Given the description of an element on the screen output the (x, y) to click on. 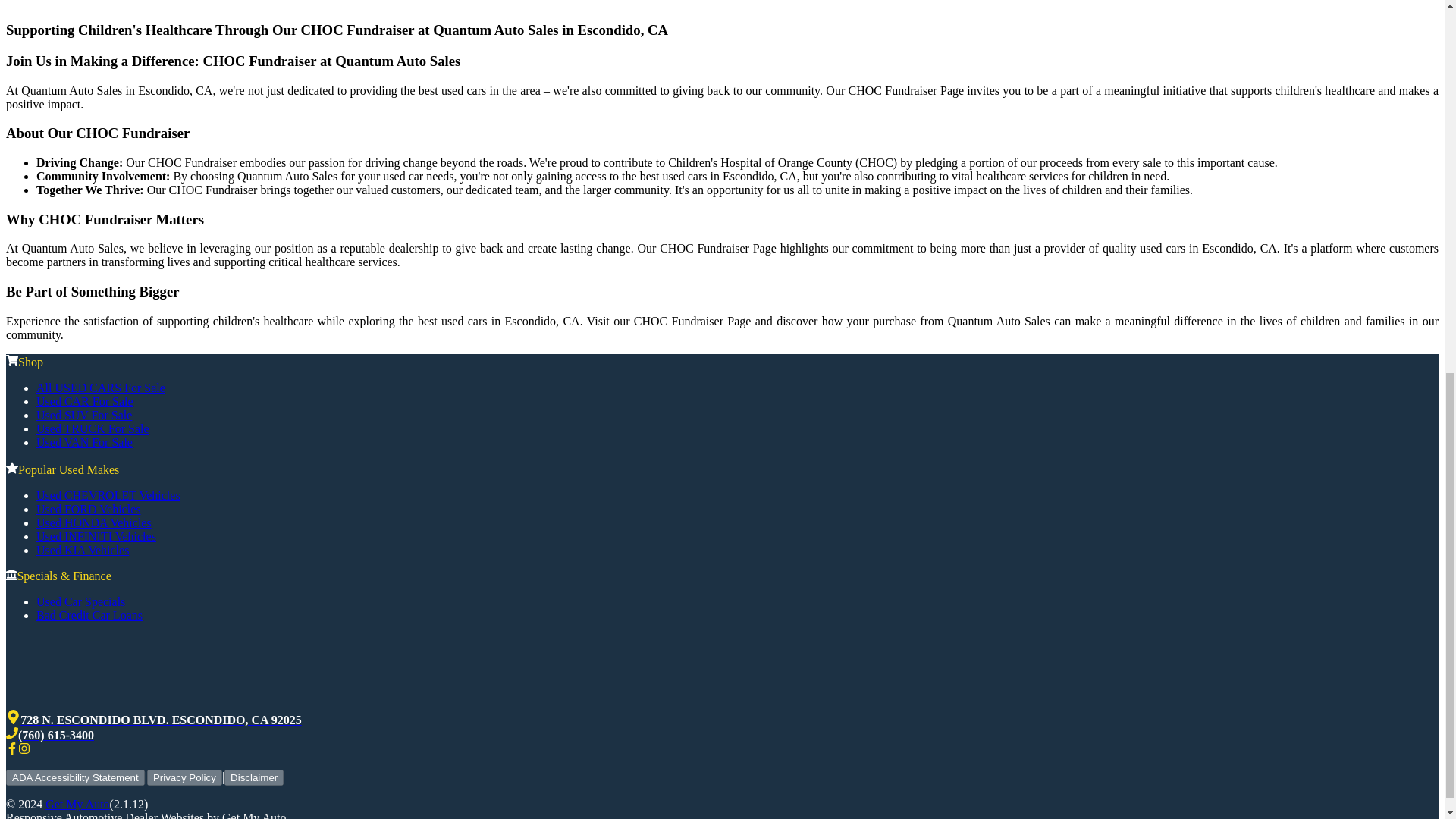
Used Car Specials (80, 601)
Disclaimer (253, 777)
All USED CARS For Sale (100, 387)
Used FORD Vehicles (87, 508)
ADA Accessibility Statement (74, 777)
Used INFINITI Vehicles (95, 535)
Used TRUCK For Sale (92, 428)
Bad Credit Car Loans (89, 615)
Used KIA Vehicles (82, 549)
728 N. ESCONDIDO BLVD. ESCONDIDO, CA 92025 (153, 719)
Used CHEVROLET Vehicles (108, 495)
Privacy Policy (184, 777)
Used HONDA Vehicles (93, 522)
Used CAR For Sale (84, 400)
Used SUV For Sale (84, 414)
